Given the description of an element on the screen output the (x, y) to click on. 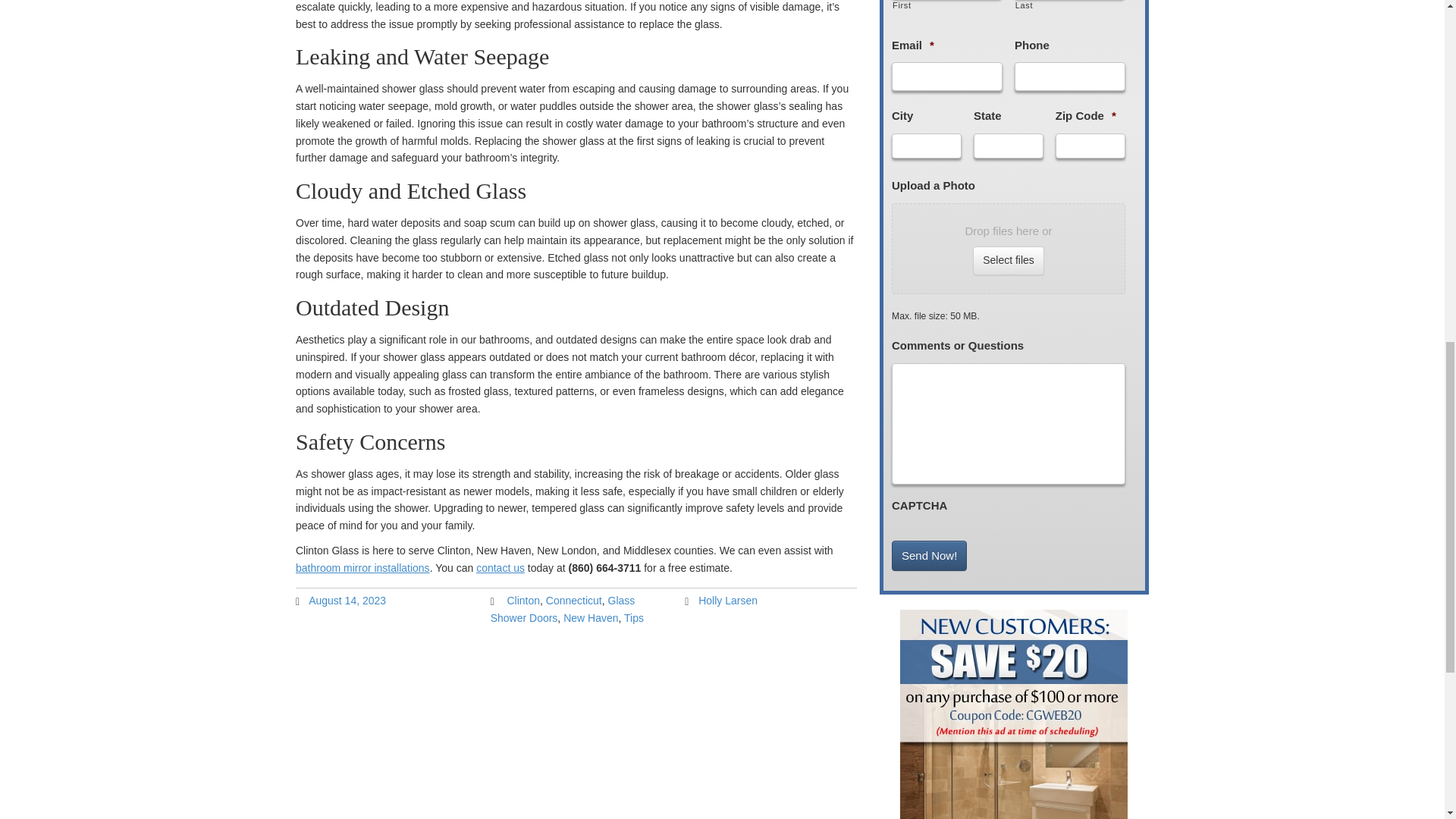
bathroom mirror installations (362, 567)
August 14, 2023 (346, 600)
contact us (500, 567)
Glass Shower Doors (562, 609)
View all posts by Holly Larsen (727, 600)
Send Now! (928, 555)
Holly Larsen (727, 600)
Connecticut (574, 600)
Tips (633, 617)
Clinton (523, 600)
Permalink to When to Replace Your Shower Glass (346, 600)
New Haven (590, 617)
